Given the description of an element on the screen output the (x, y) to click on. 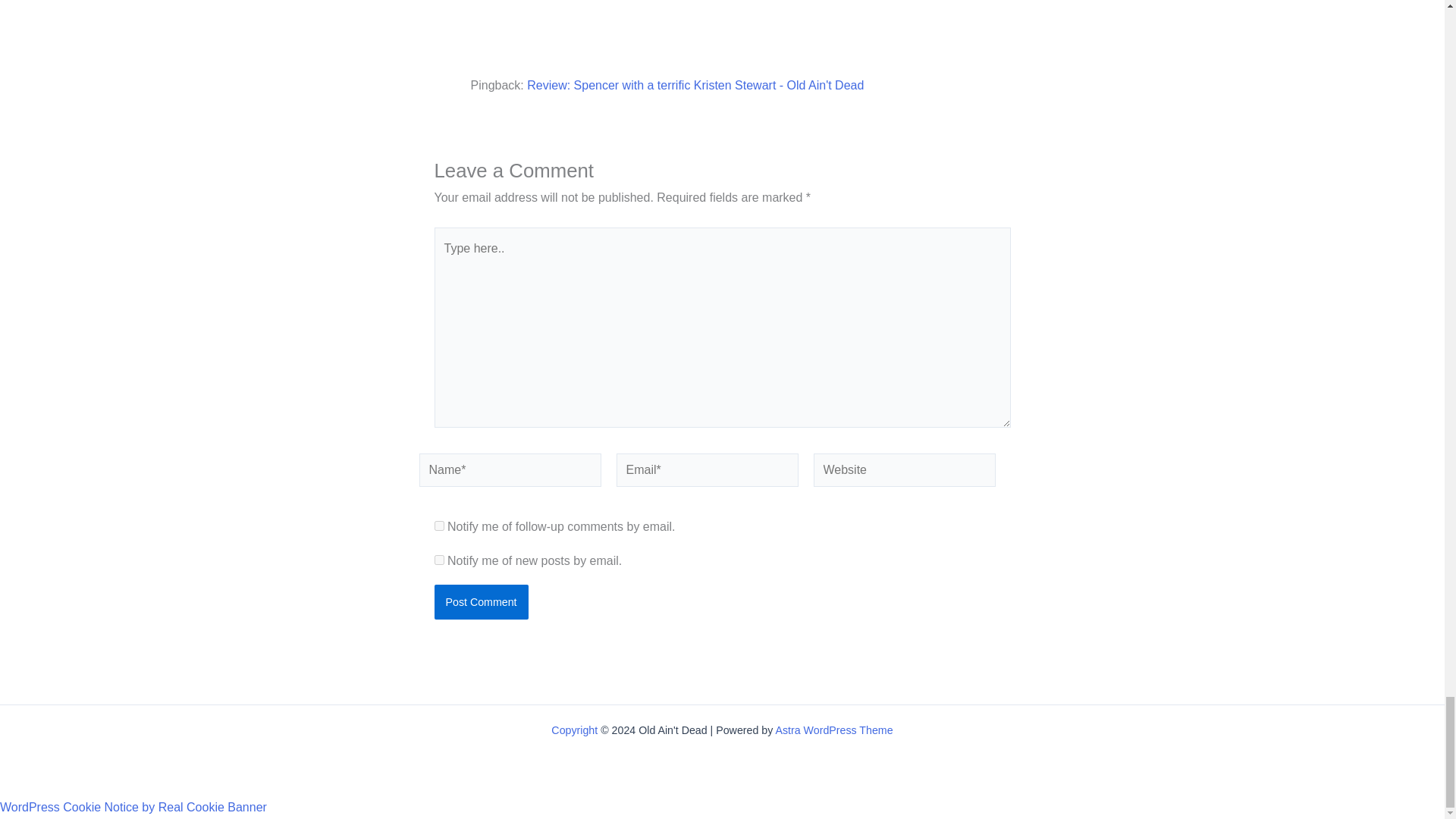
subscribe (438, 525)
subscribe (438, 560)
Post Comment (480, 601)
